Given the description of an element on the screen output the (x, y) to click on. 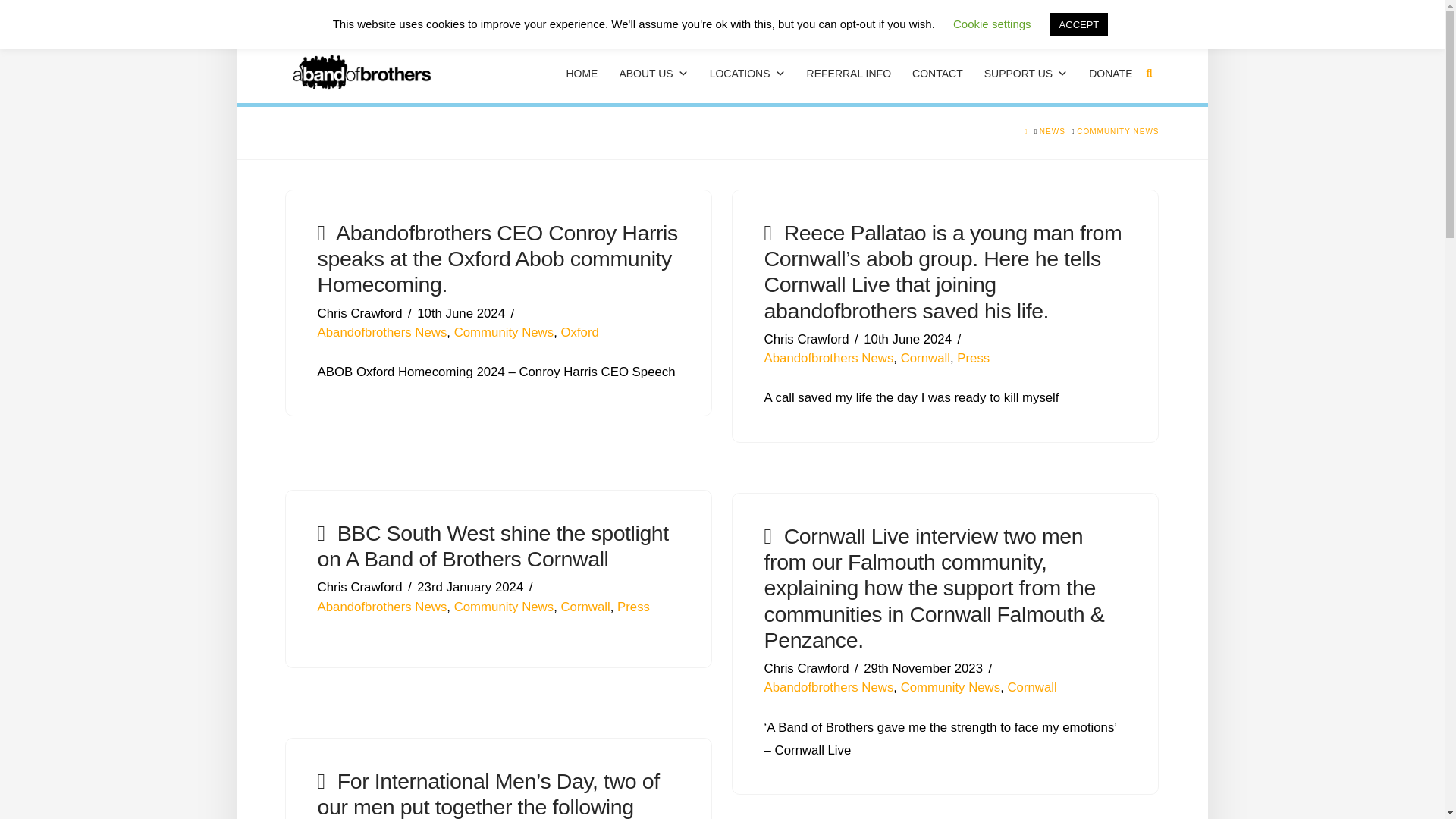
You Are Here (1117, 131)
CONTACT (937, 73)
Facebook (1088, 16)
Instagram (1146, 16)
REFERRAL INFO (849, 73)
ABOUT US (653, 73)
HOME (581, 73)
LOCATIONS (747, 73)
SUPPORT US (1025, 73)
Sign Up for Our Newsletter (367, 17)
